Given the description of an element on the screen output the (x, y) to click on. 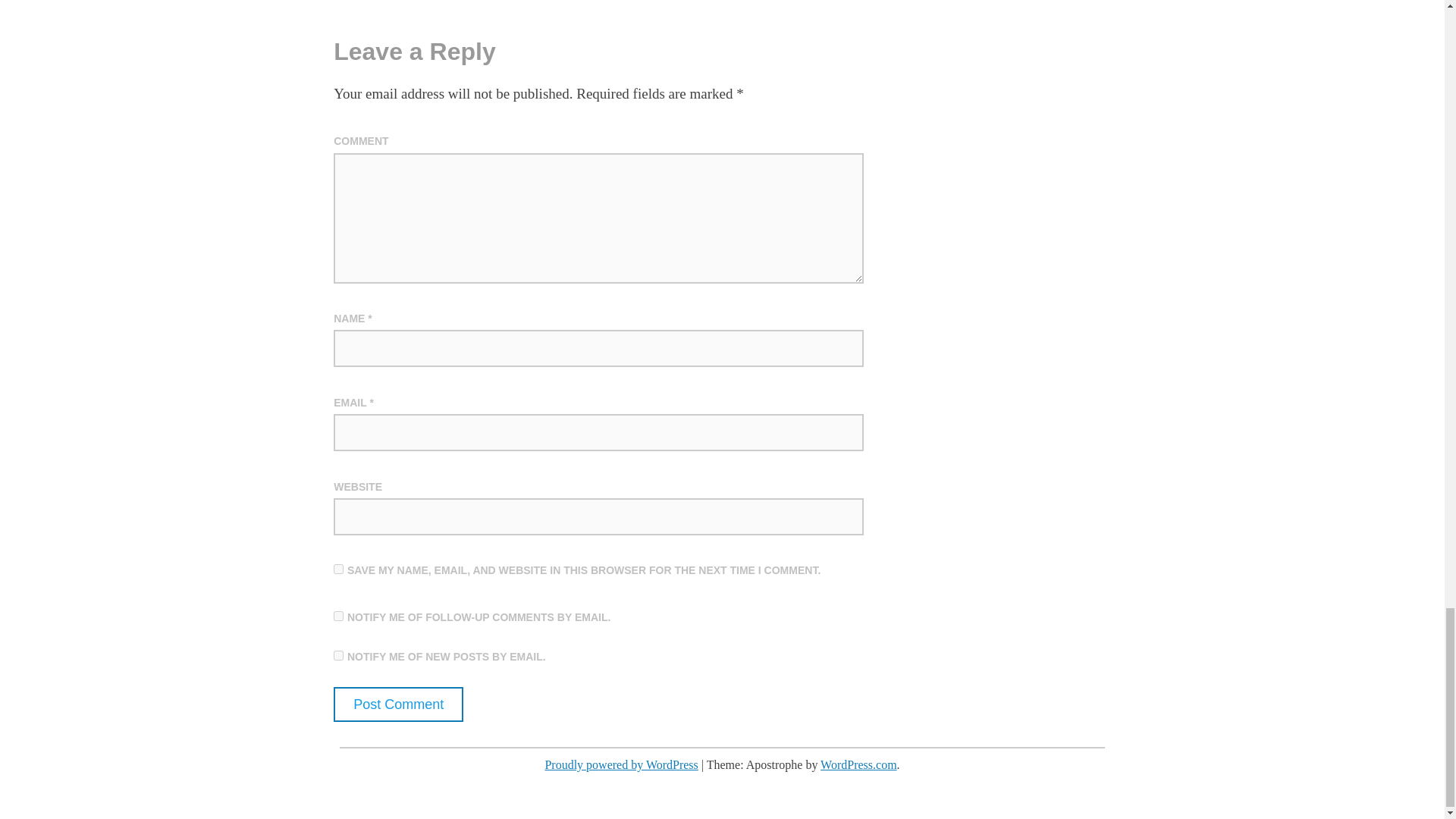
yes (338, 569)
subscribe (338, 615)
Post Comment (398, 704)
subscribe (338, 655)
